Given the description of an element on the screen output the (x, y) to click on. 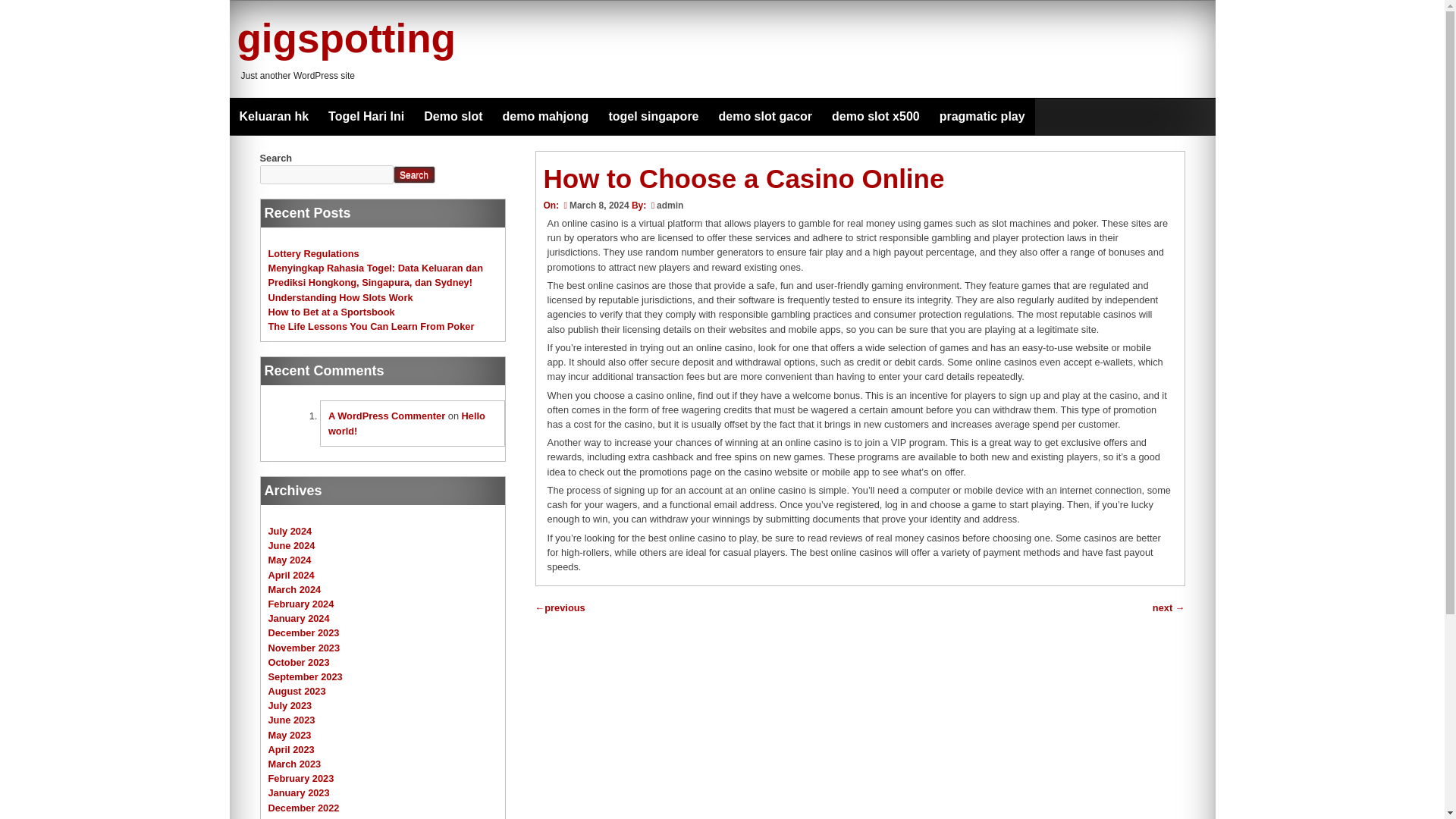
demo slot x500 (876, 116)
A WordPress Commenter (387, 415)
June 2024 (291, 545)
Keluaran hk (273, 116)
September 2023 (304, 676)
Search (413, 174)
admin (669, 204)
Understanding How Slots Work (340, 297)
March 2023 (294, 763)
June 2023 (291, 719)
February 2024 (300, 603)
April 2024 (290, 574)
July 2023 (290, 705)
demo slot gacor (764, 116)
